Given the description of an element on the screen output the (x, y) to click on. 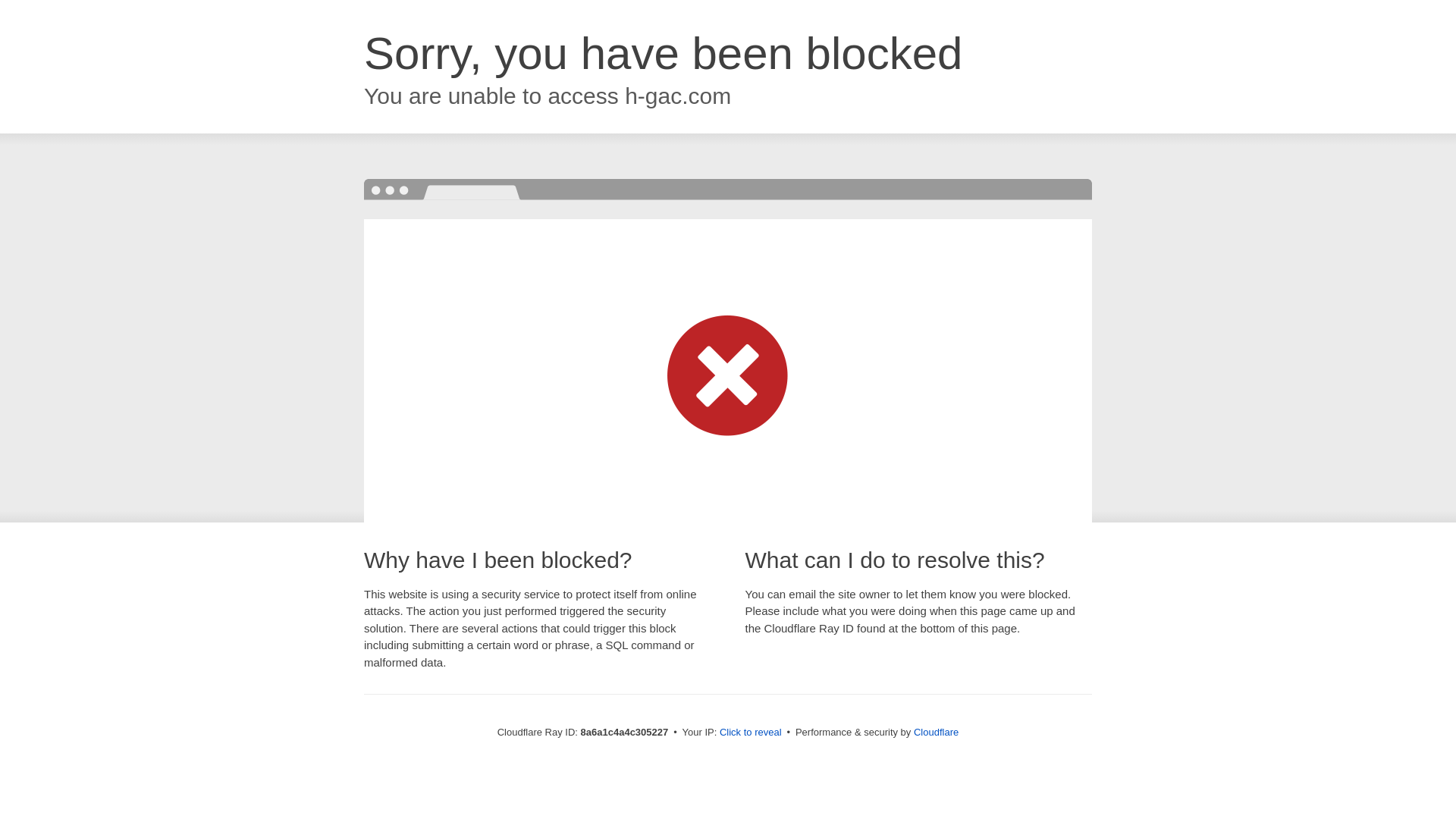
Cloudflare (936, 731)
Click to reveal (750, 732)
